Given the description of an element on the screen output the (x, y) to click on. 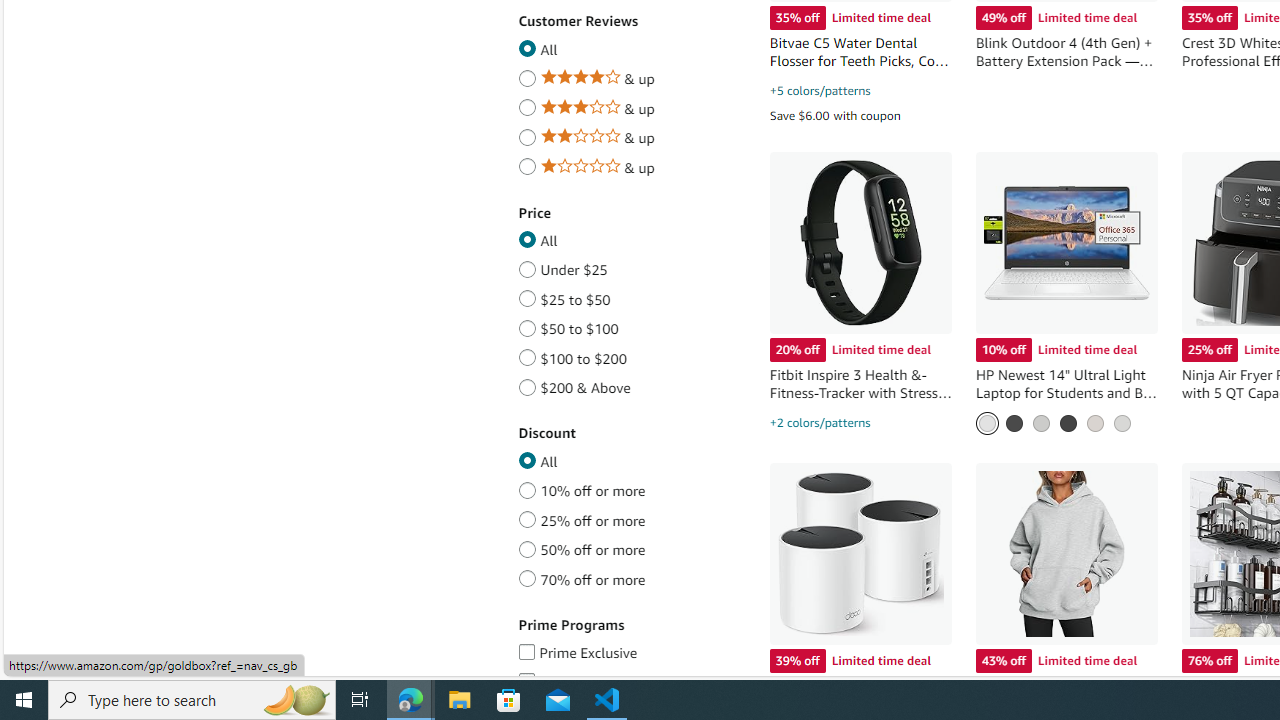
Average review star rating of 4 and up (527, 75)
+2 colors/patterns (819, 423)
Natural Silver (1121, 422)
50% off or more (527, 546)
Jet Black (1014, 422)
25% off or more (527, 517)
8GB RAM | 256GB SSD (1041, 422)
$100 to $200 (527, 355)
$200 & Above (527, 384)
All (527, 458)
$25 to $50 (527, 296)
Black (1068, 422)
